Given the description of an element on the screen output the (x, y) to click on. 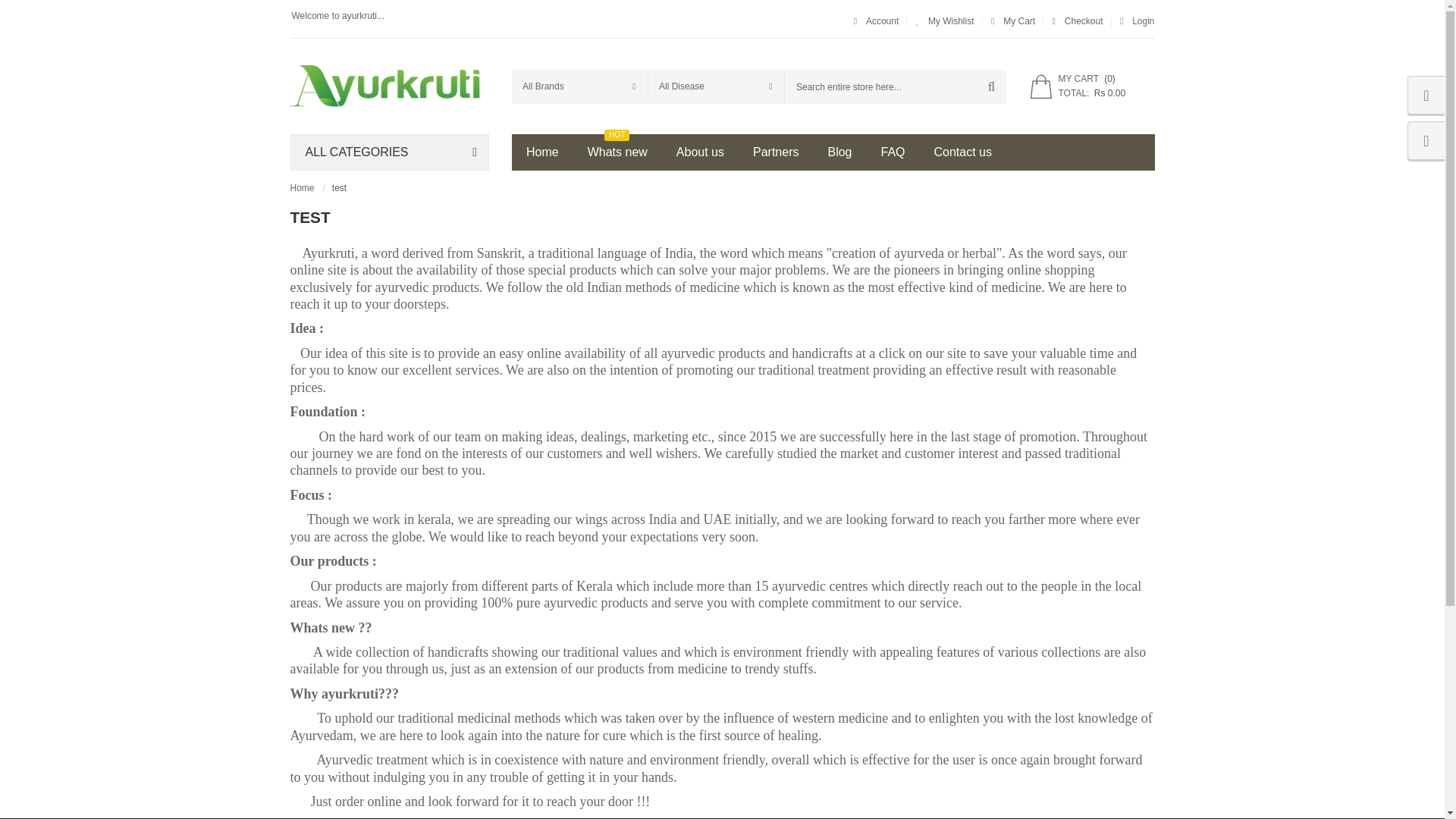
Account (875, 20)
Ayurkruti (389, 83)
Go to Home Page (301, 187)
My Wishlist (944, 20)
My Cart (1012, 20)
Checkout (1077, 20)
My Wishlist (944, 20)
Search (990, 86)
My Cart (1012, 20)
Login (1136, 20)
Login (1136, 20)
Account (875, 20)
Checkout (1077, 20)
